Given the description of an element on the screen output the (x, y) to click on. 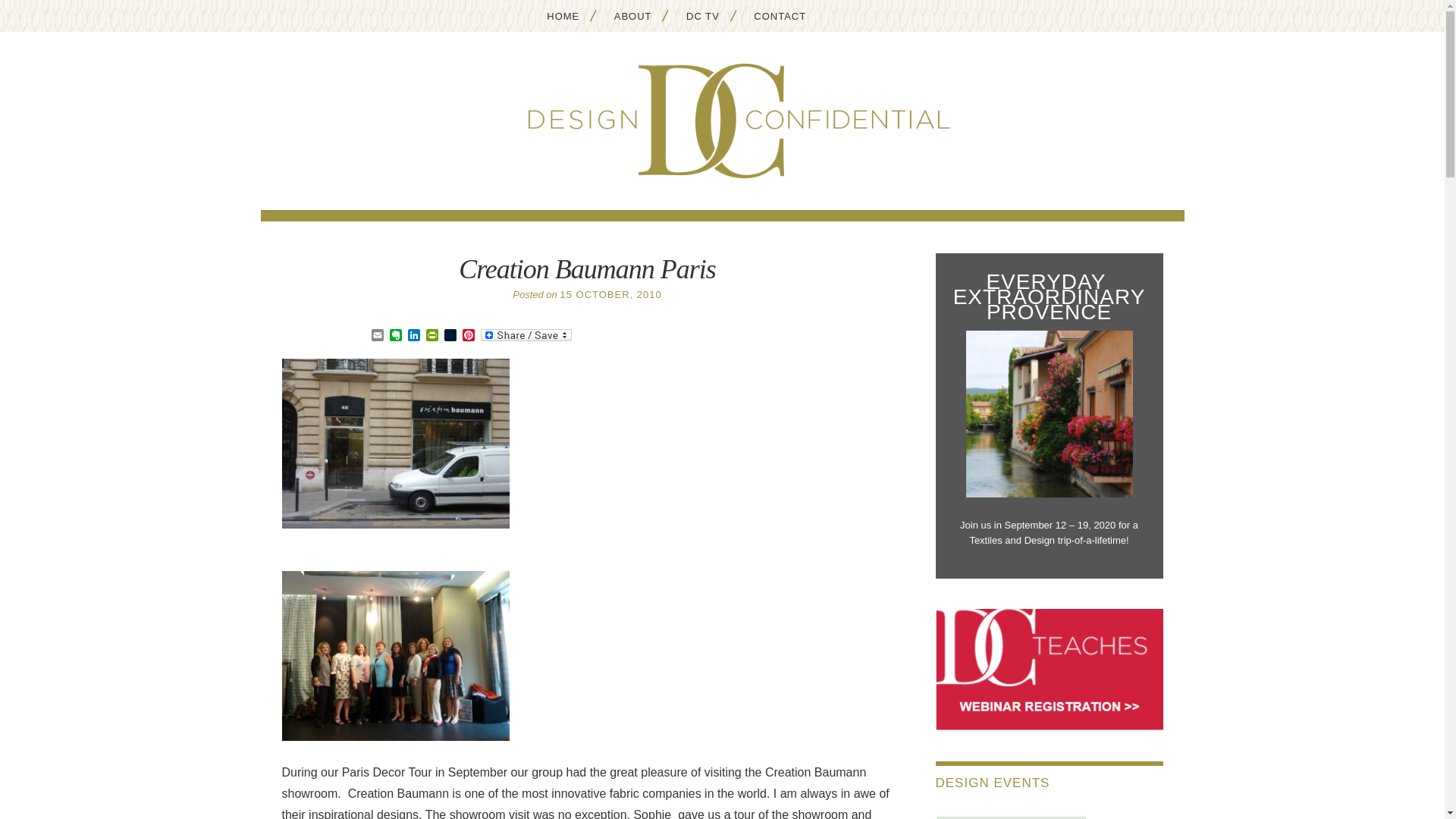
Design Confidential (722, 120)
P1010688 - Copy (395, 443)
CONTACT (780, 15)
PrintFriendly (432, 336)
LinkedIn (413, 336)
Tumblr (450, 336)
HOME (562, 15)
ABOUT (632, 15)
PrintFriendly (432, 336)
DC TV (702, 15)
Pinterest (468, 336)
Evernote (395, 336)
Email (377, 336)
2010-10-15 (610, 294)
LinkedIn (413, 336)
